Given the description of an element on the screen output the (x, y) to click on. 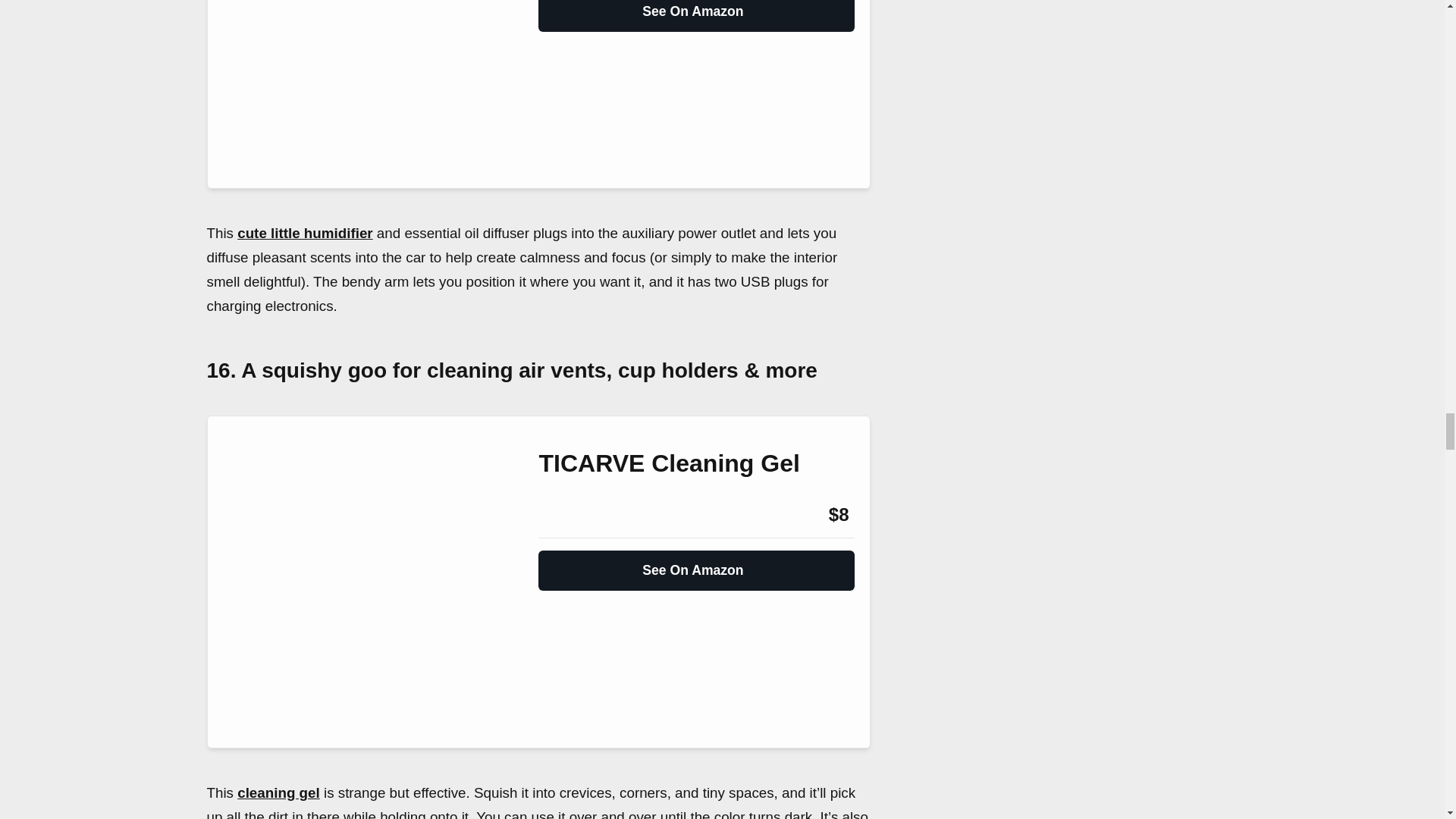
Amazon (579, 515)
